Given the description of an element on the screen output the (x, y) to click on. 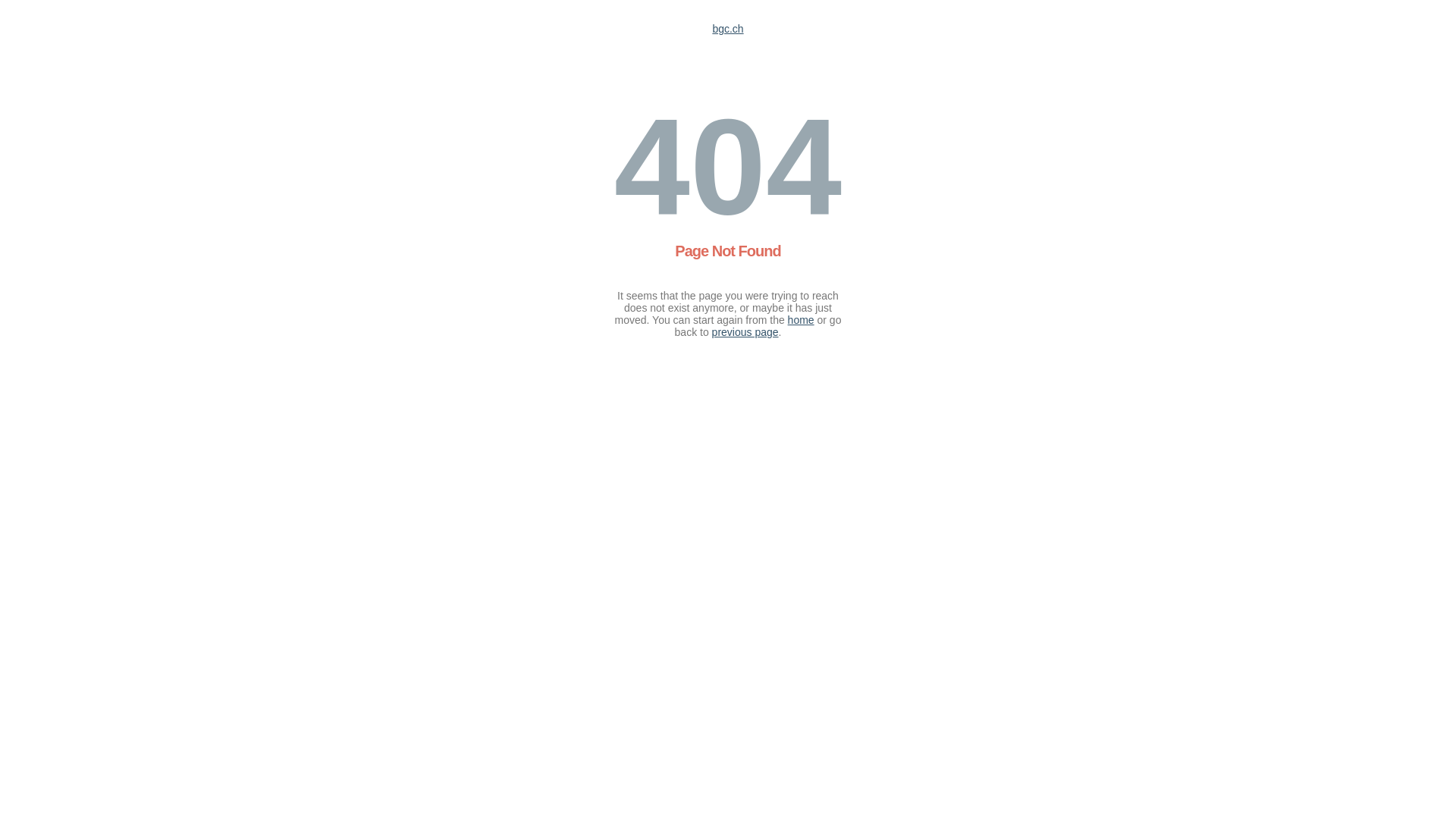
bgc.ch Element type: text (727, 28)
home Element type: text (800, 319)
previous page Element type: text (745, 332)
